Given the description of an element on the screen output the (x, y) to click on. 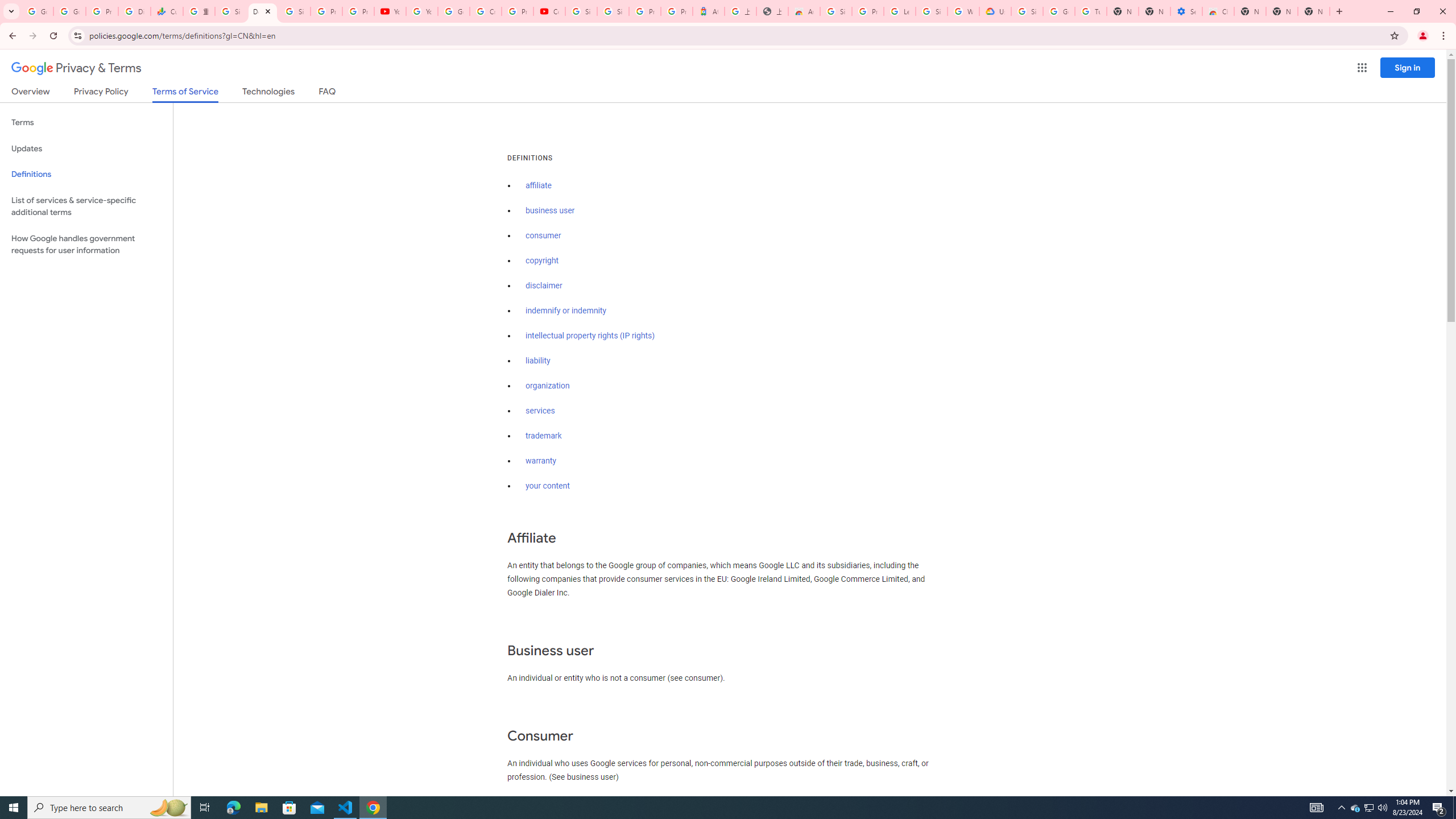
copyright (542, 260)
Updates (86, 148)
Who are Google's partners? - Privacy and conditions - Google (963, 11)
Google Account Help (453, 11)
business user (550, 210)
Settings - Accessibility (1185, 11)
New Tab (1249, 11)
indemnify or indemnity (565, 311)
Currencies - Google Finance (166, 11)
